Given the description of an element on the screen output the (x, y) to click on. 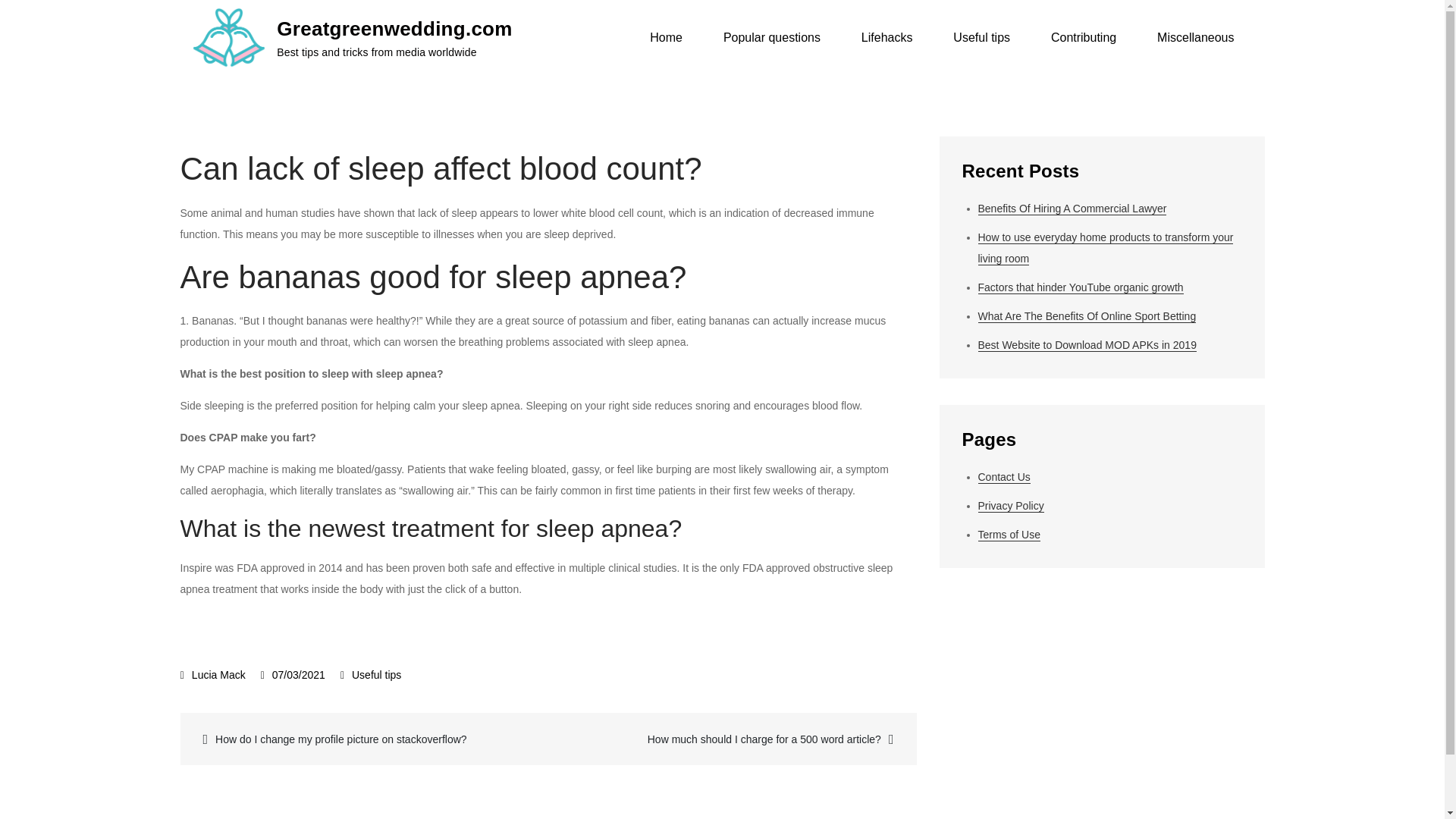
Lucia Mack (213, 674)
Popular questions (772, 38)
How much should I charge for a 500 word article? (730, 739)
Best Website to Download MOD APKs in 2019 (1087, 345)
Contributing (1083, 38)
Contact Us (1004, 477)
How do I change my profile picture on stackoverflow? (366, 739)
Factors that hinder YouTube organic growth (1080, 287)
Useful tips (981, 38)
Lifehacks (887, 38)
Privacy Policy (1010, 505)
Useful tips (376, 674)
Benefits Of Hiring A Commercial Lawyer (1072, 208)
Terms of Use (1009, 534)
